Given the description of an element on the screen output the (x, y) to click on. 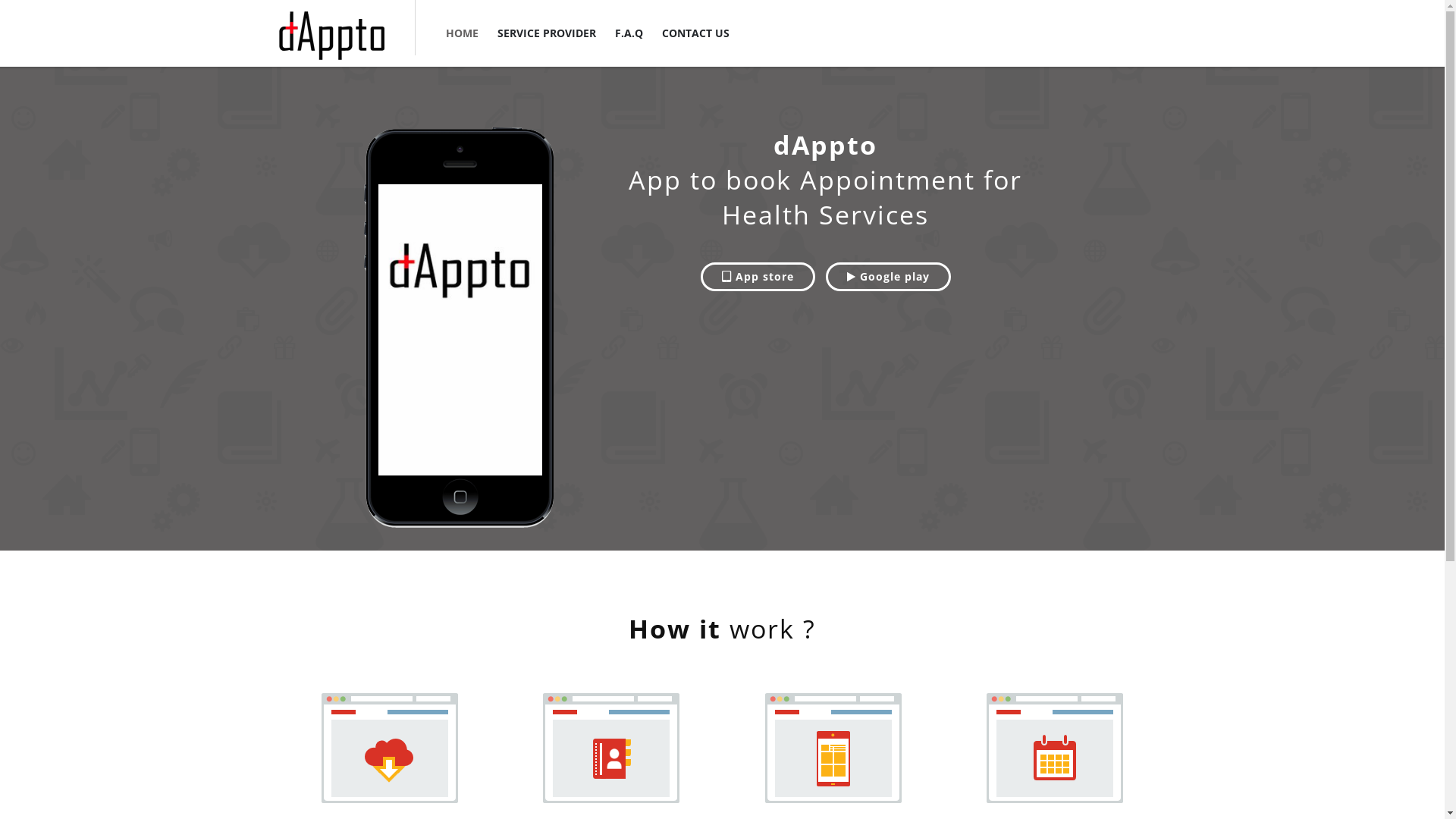
CONTACT US Element type: text (694, 33)
Google play Element type: text (887, 276)
HOME Element type: text (461, 33)
F.A.Q Element type: text (628, 33)
SERVICE PROVIDER Element type: text (546, 33)
App store Element type: text (757, 276)
